Given the description of an element on the screen output the (x, y) to click on. 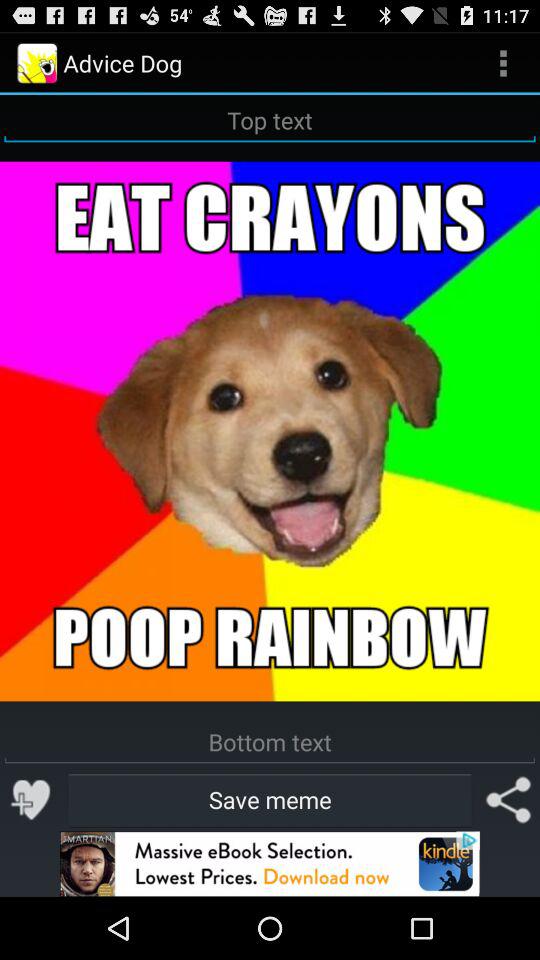
text box (270, 120)
